Given the description of an element on the screen output the (x, y) to click on. 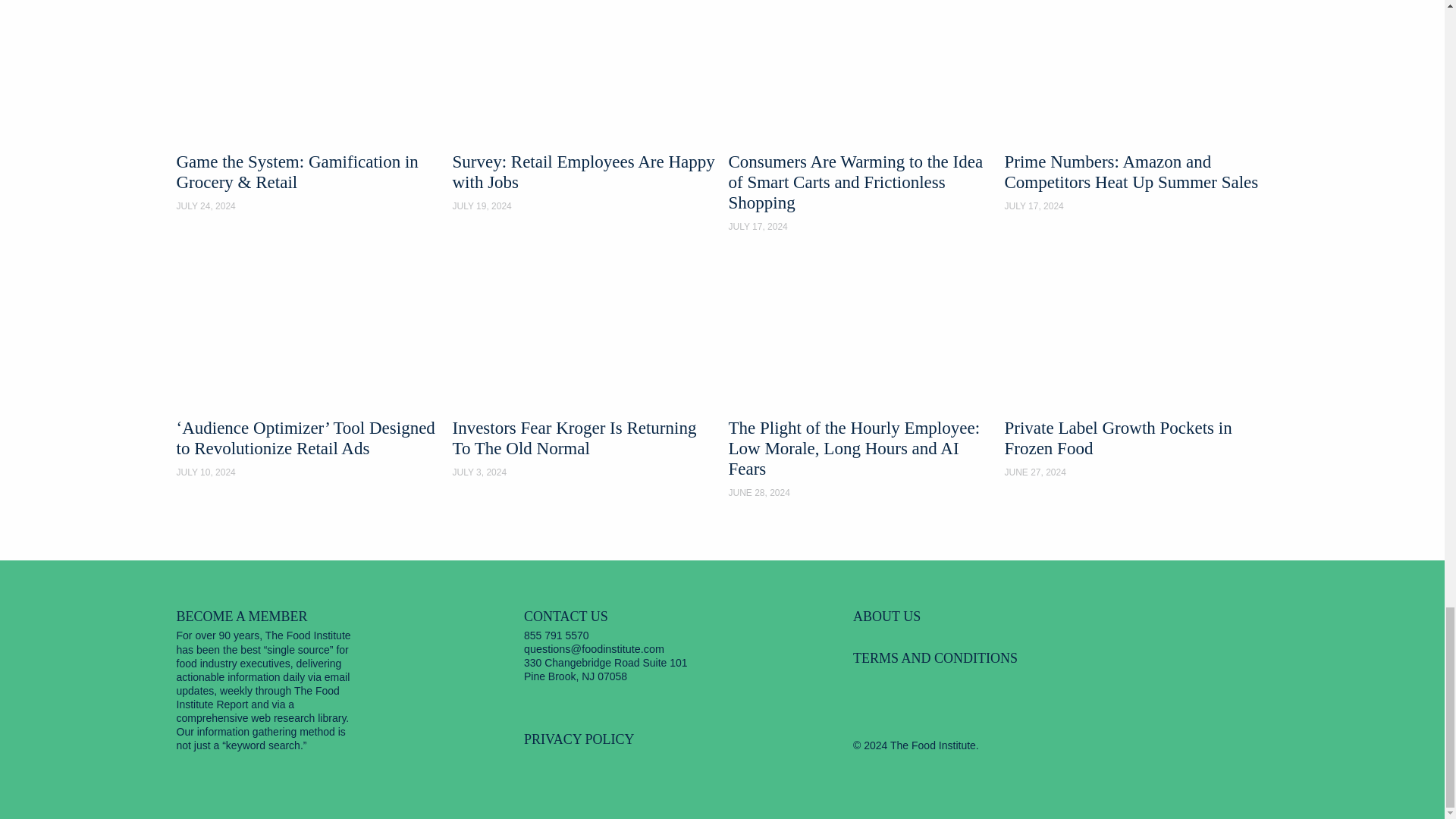
Survey: Retail Employees Are Happy with Jobs (583, 106)
Investors Fear Kroger Is Returning To The Old Normal (583, 368)
Prime Numbers: Amazon and Competitors Heat Up Summer Sales (1136, 106)
Private Label Growth Pockets in Frozen Food (1136, 368)
